Given the description of an element on the screen output the (x, y) to click on. 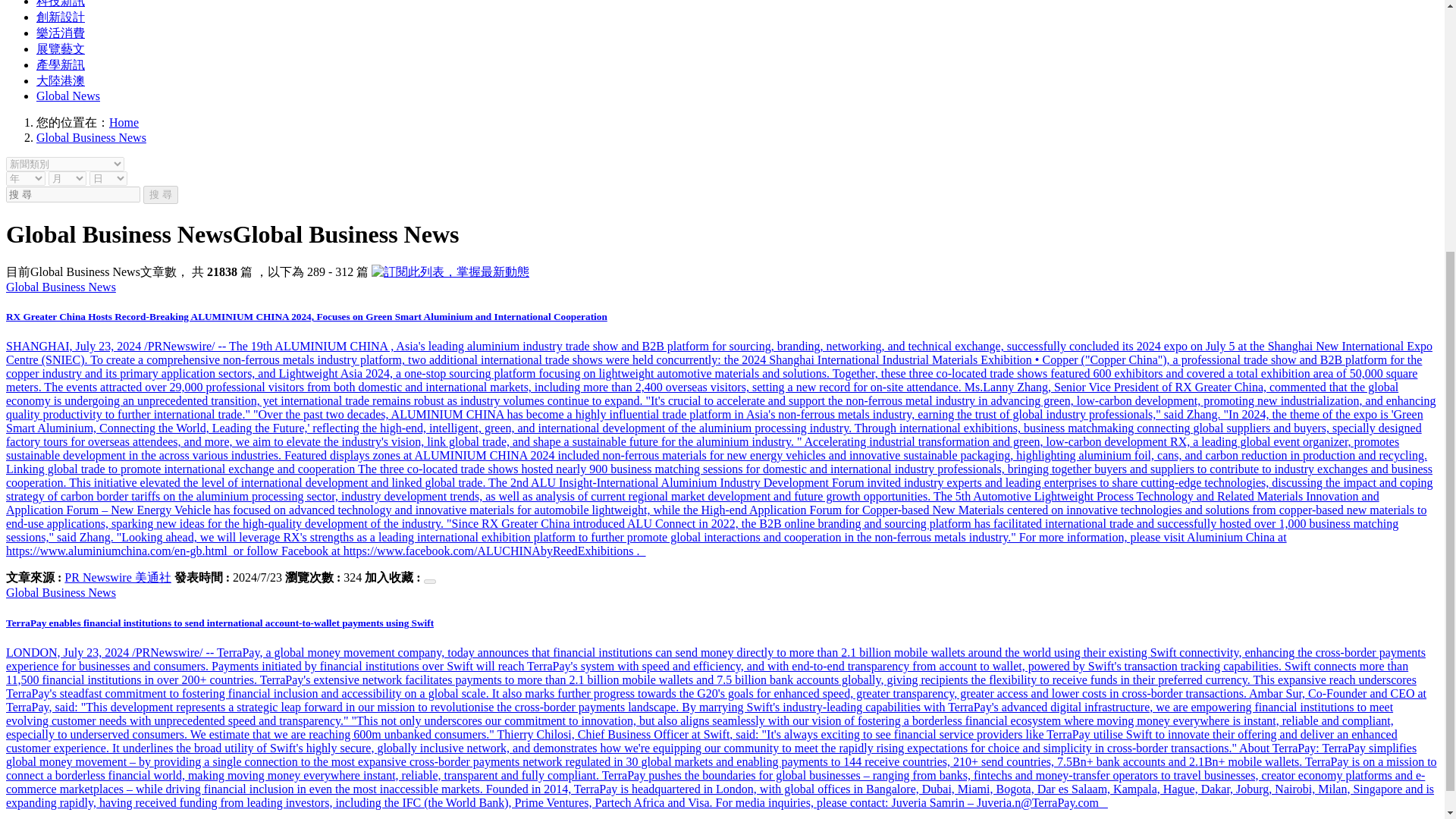
Home (123, 122)
Global Business News (91, 137)
Global News (68, 95)
Global Business News (60, 592)
Global Business News (60, 286)
